Given the description of an element on the screen output the (x, y) to click on. 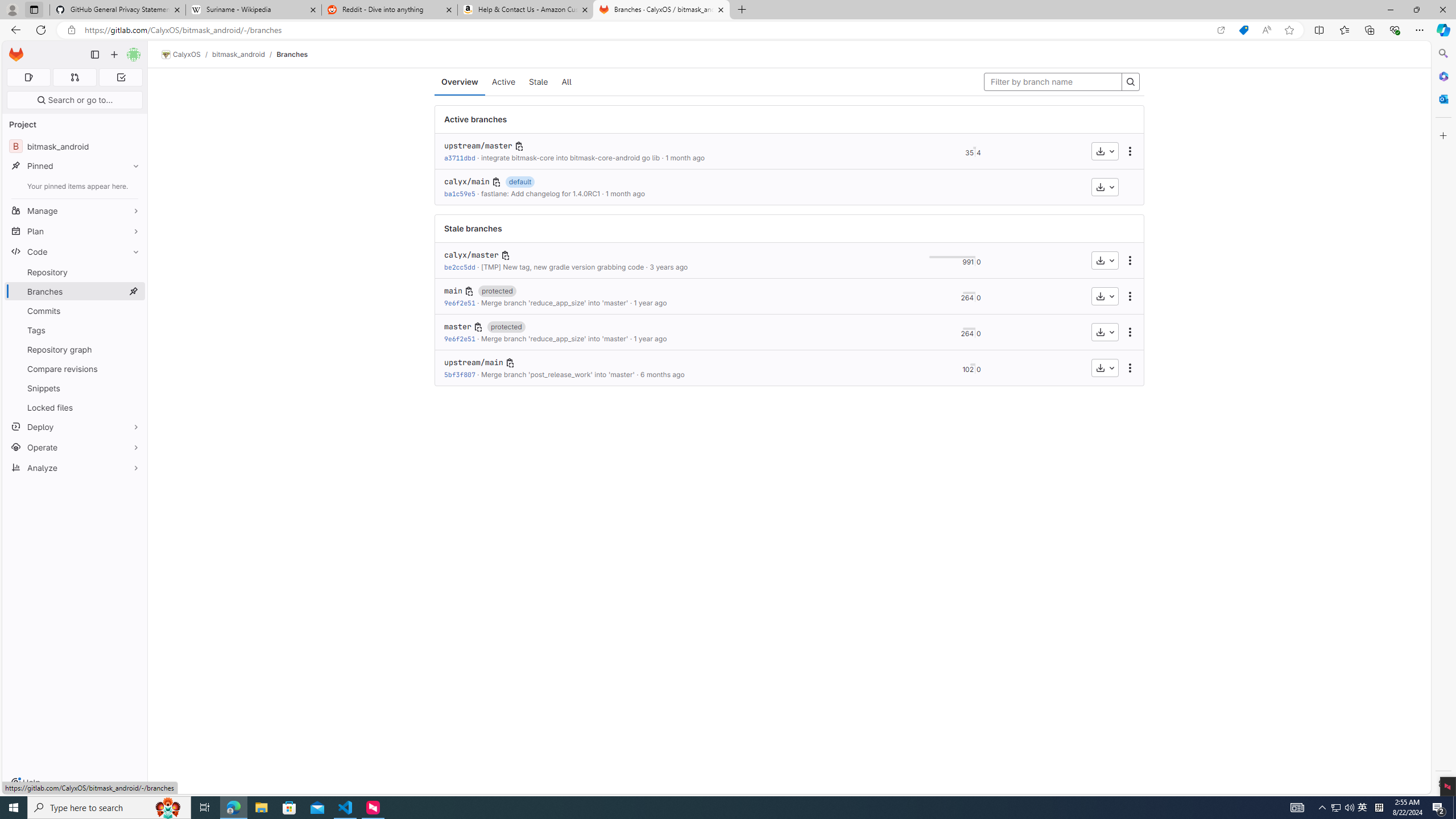
Active (503, 81)
Read aloud this page (Ctrl+Shift+U) (1266, 29)
All (566, 81)
Browser essentials (1394, 29)
Tab actions menu (33, 9)
Bbitmask_android (74, 145)
Address and search bar (647, 29)
Analyze (74, 467)
Locked files (74, 407)
Pin Commits (132, 310)
Filter by branch name (1053, 81)
Add this page to favorites (Ctrl+D) (1289, 29)
Snippets (74, 387)
Pin Snippets (132, 387)
